Given the description of an element on the screen output the (x, y) to click on. 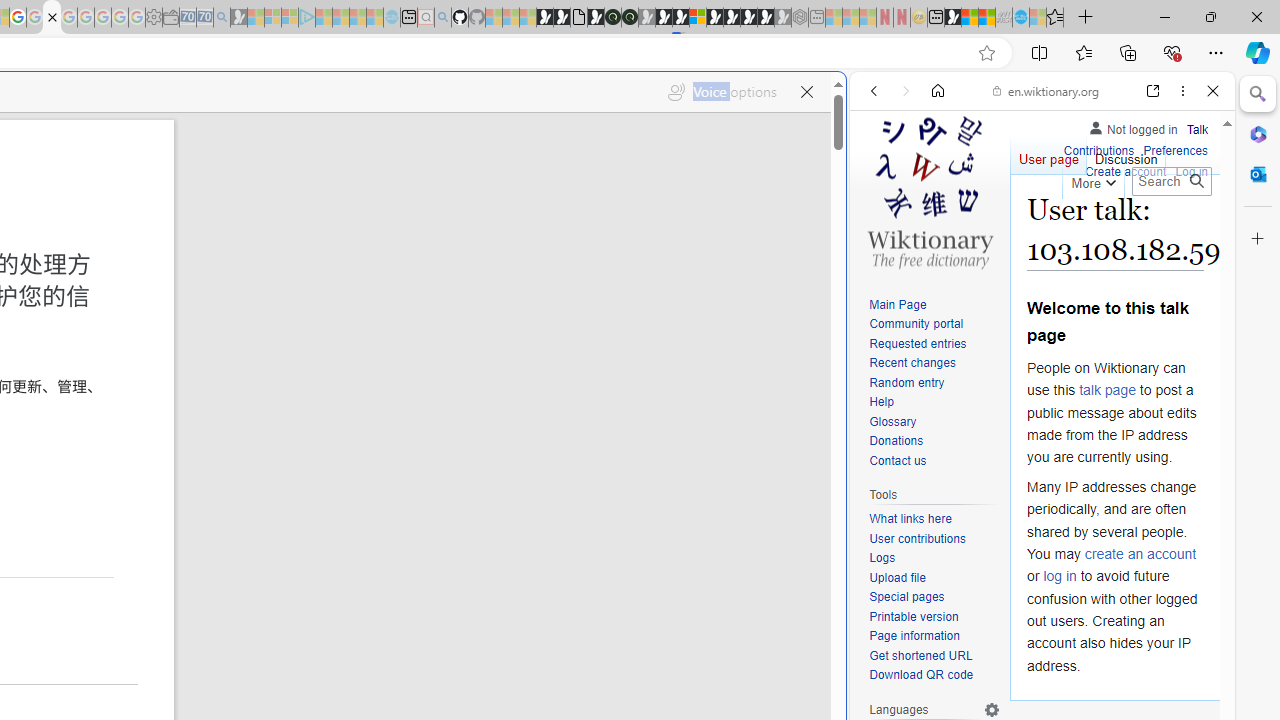
World - MSN (969, 17)
Talk (1197, 126)
SEARCH TOOLS (1093, 228)
Wiktionary (1034, 669)
Contact us (934, 461)
en.wiktionary.org (1046, 90)
Bing Real Estate - Home sales and rental listings - Sleeping (221, 17)
Wallet - Sleeping (170, 17)
